Given the description of an element on the screen output the (x, y) to click on. 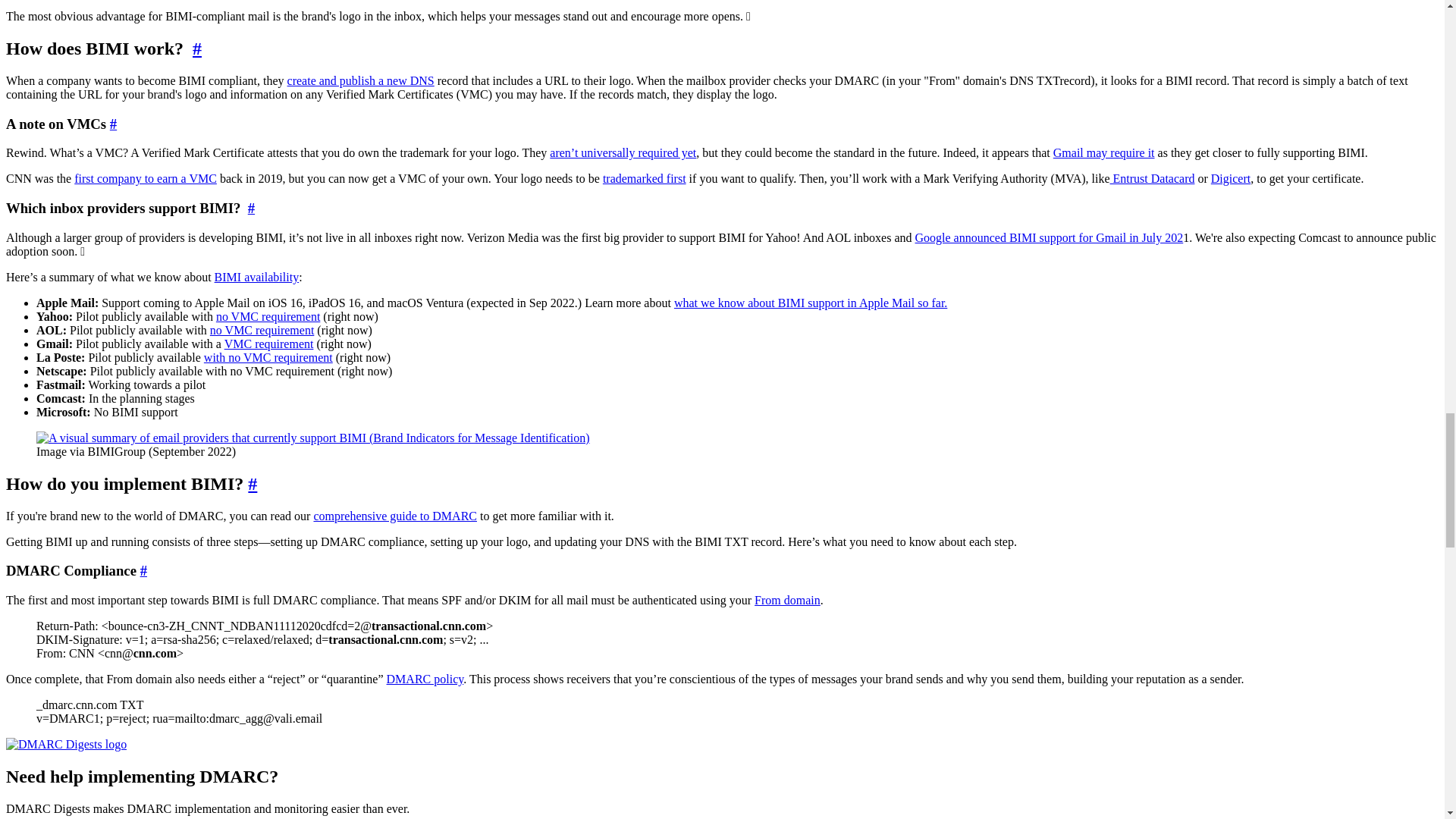
Direct link to How do you implement BIMI? (252, 483)
Direct link to DMARC Compliance (143, 570)
Direct link to Which inbox providers support BIMI?  (250, 207)
Direct link to A note on VMCs (113, 123)
Direct link to How does BIMI work?  (197, 48)
